Given the description of an element on the screen output the (x, y) to click on. 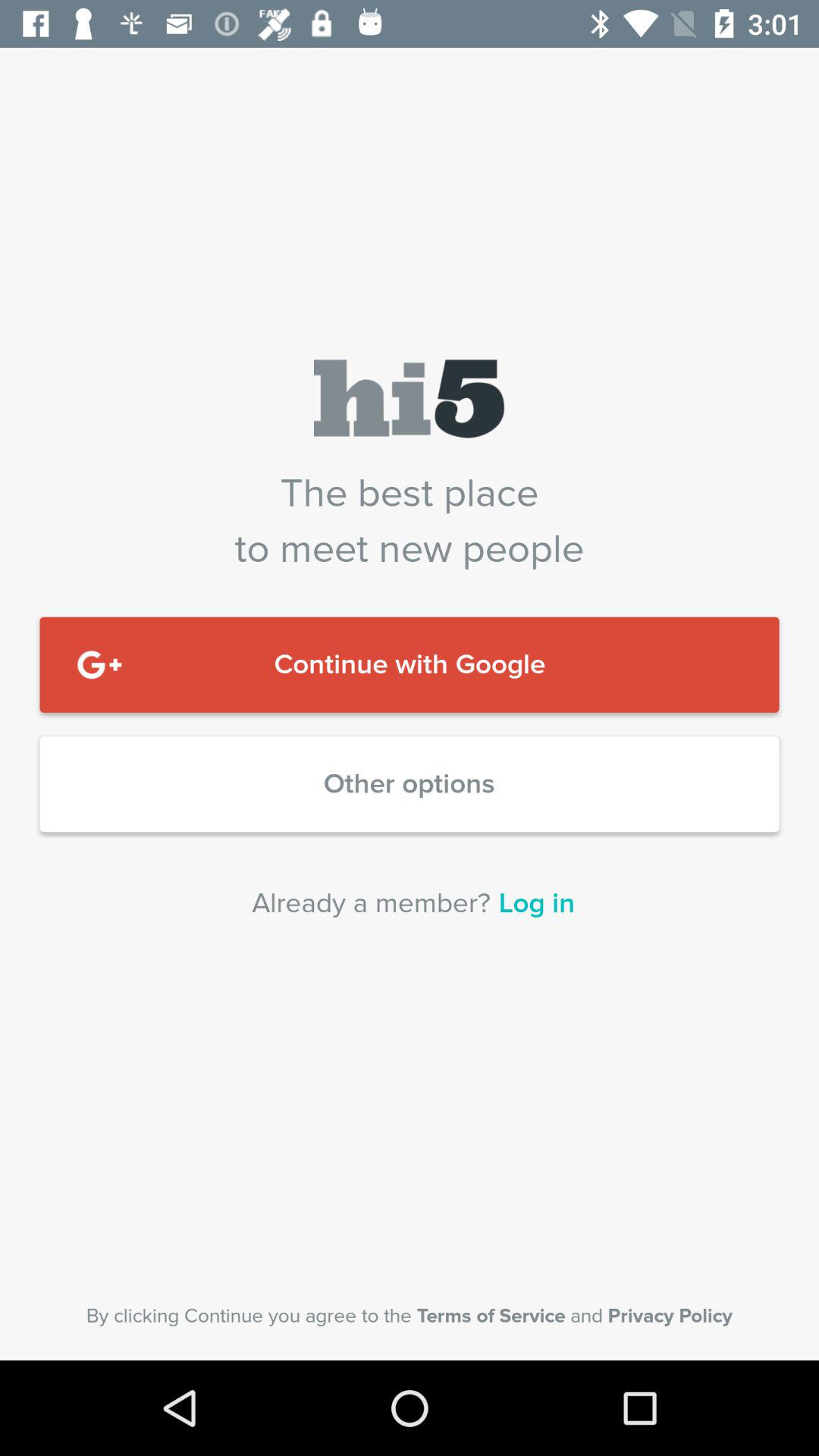
choose icon below already a member? icon (409, 1316)
